Given the description of an element on the screen output the (x, y) to click on. 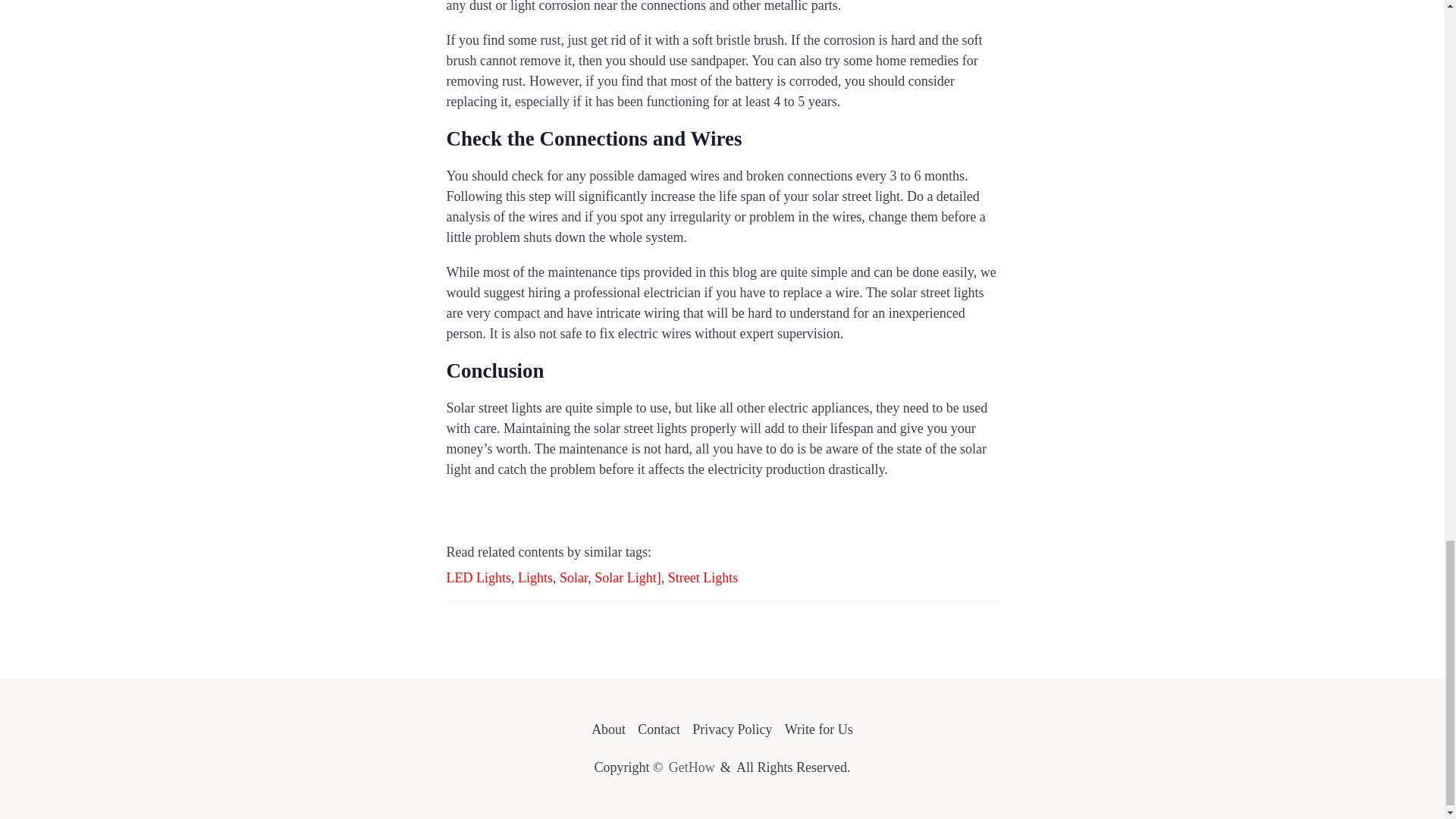
Street Lights (703, 577)
Contact (658, 729)
About (608, 729)
Privacy Policy (733, 729)
Lights (535, 577)
Solar (573, 577)
Write for Us (818, 729)
GetHow (691, 767)
LED Lights (478, 577)
